Given the description of an element on the screen output the (x, y) to click on. 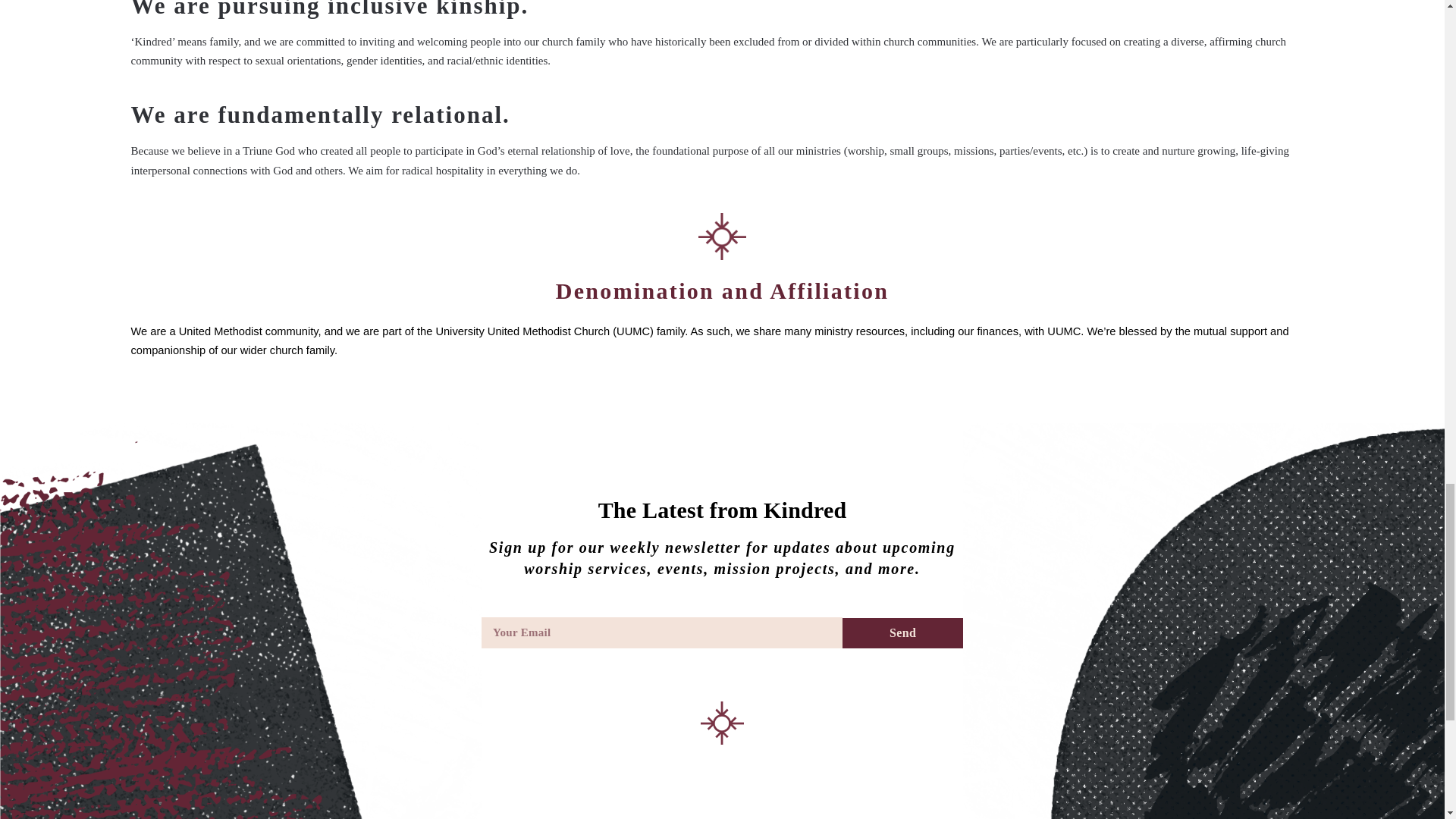
Send (902, 633)
